Given the description of an element on the screen output the (x, y) to click on. 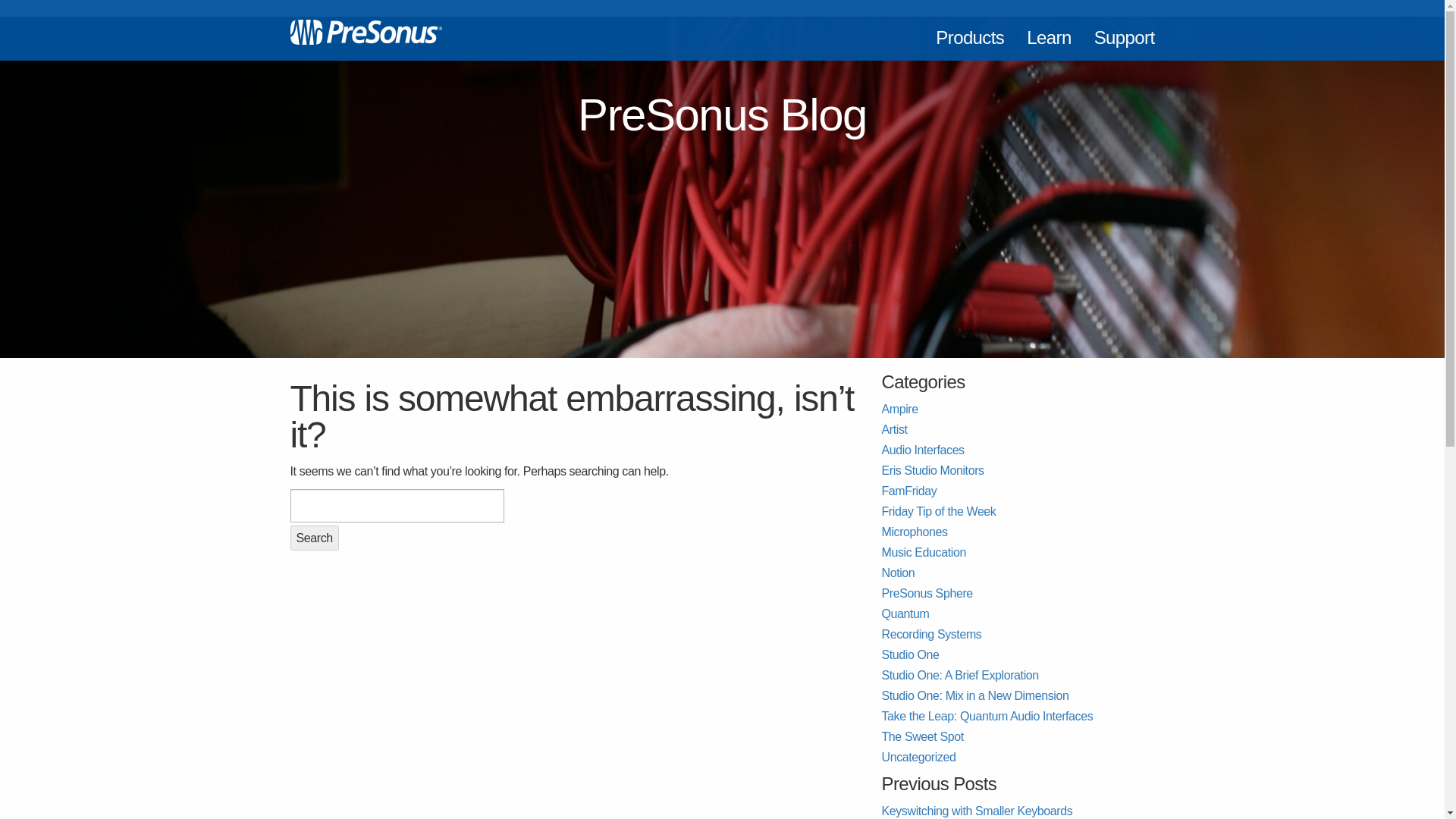
Learn (1047, 30)
Friday Tip of the Week (937, 511)
Search (313, 537)
Audio Interfaces (921, 449)
FamFriday (908, 490)
Eris Studio Monitors (932, 470)
Products (969, 30)
Microphones (913, 531)
Artist (893, 429)
Search (313, 537)
